Given the description of an element on the screen output the (x, y) to click on. 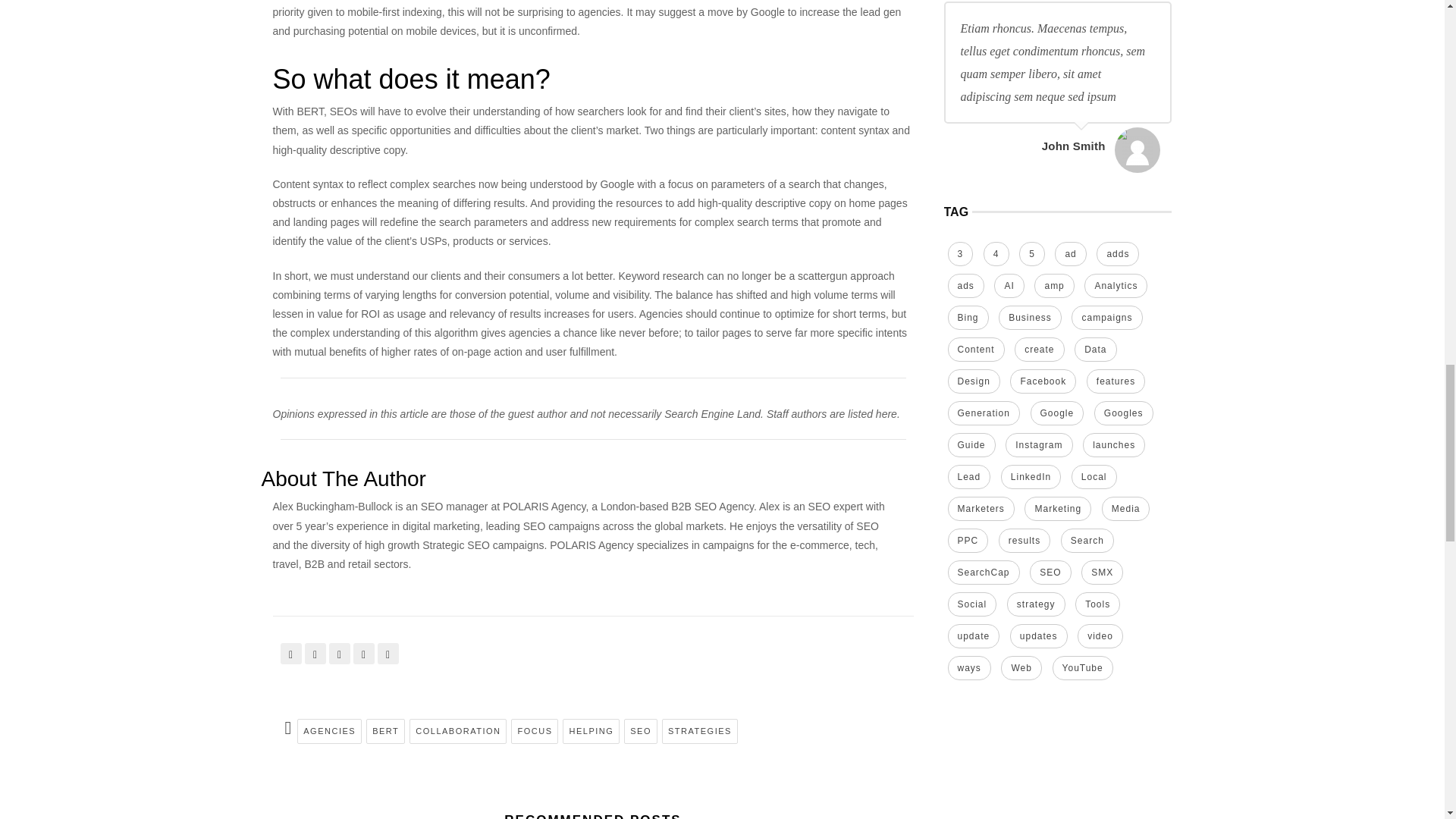
AGENCIES (329, 731)
BERT (385, 731)
SEO (641, 731)
STRATEGIES (700, 731)
HELPING (591, 731)
COLLABORATION (457, 731)
FOCUS (534, 731)
